Given the description of an element on the screen output the (x, y) to click on. 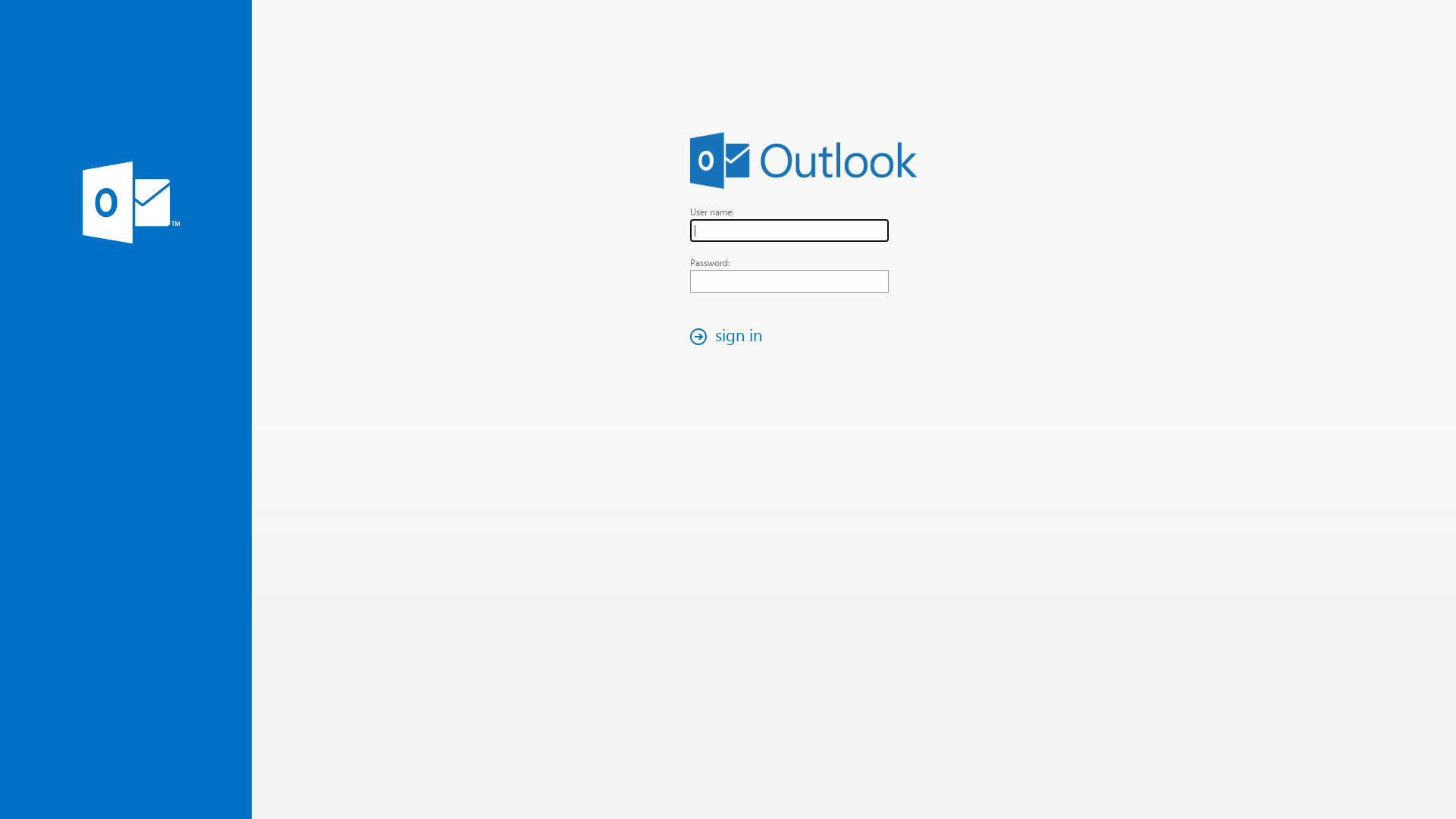
sign in Element type: text (730, 336)
